Given the description of an element on the screen output the (x, y) to click on. 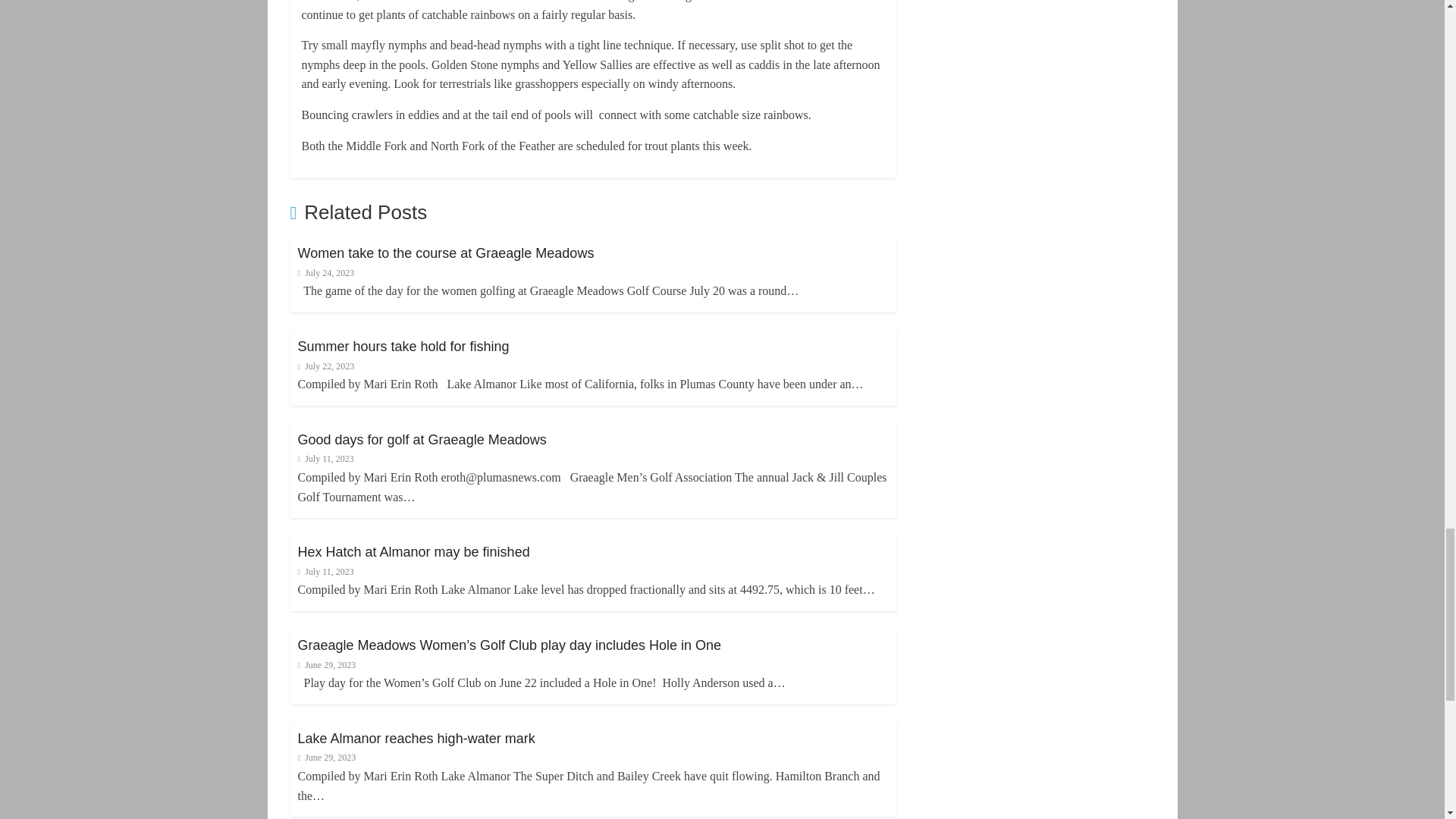
8:48 am (325, 272)
Women take to the course at Graeagle Meadows (445, 253)
